Given the description of an element on the screen output the (x, y) to click on. 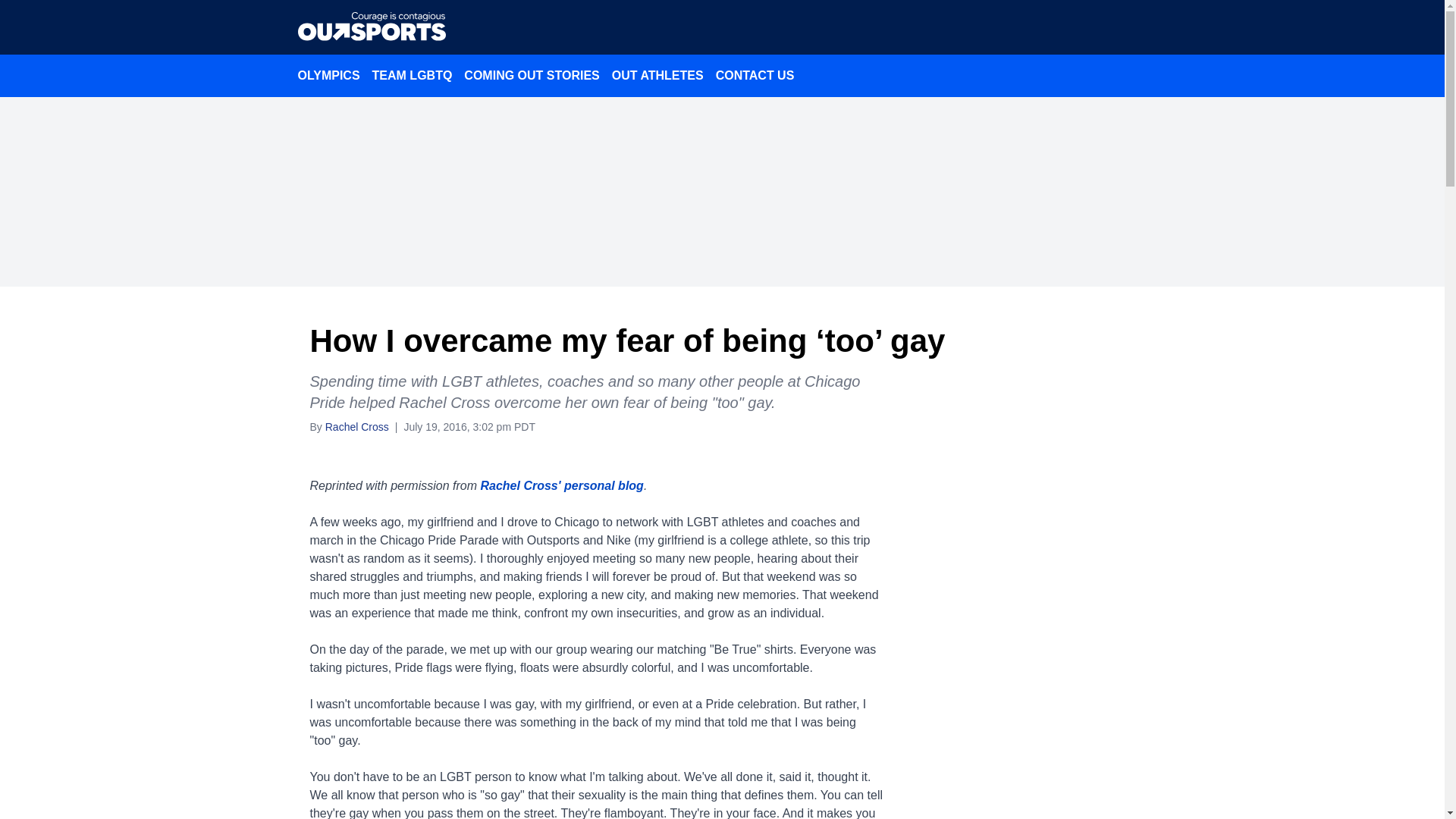
TEAM LGBTQ (412, 75)
COMING OUT STORIES (531, 75)
OLYMPICS (328, 75)
CONTACT US (755, 75)
Rachel Cross' personal blog (561, 485)
OUT ATHLETES (657, 75)
